Given the description of an element on the screen output the (x, y) to click on. 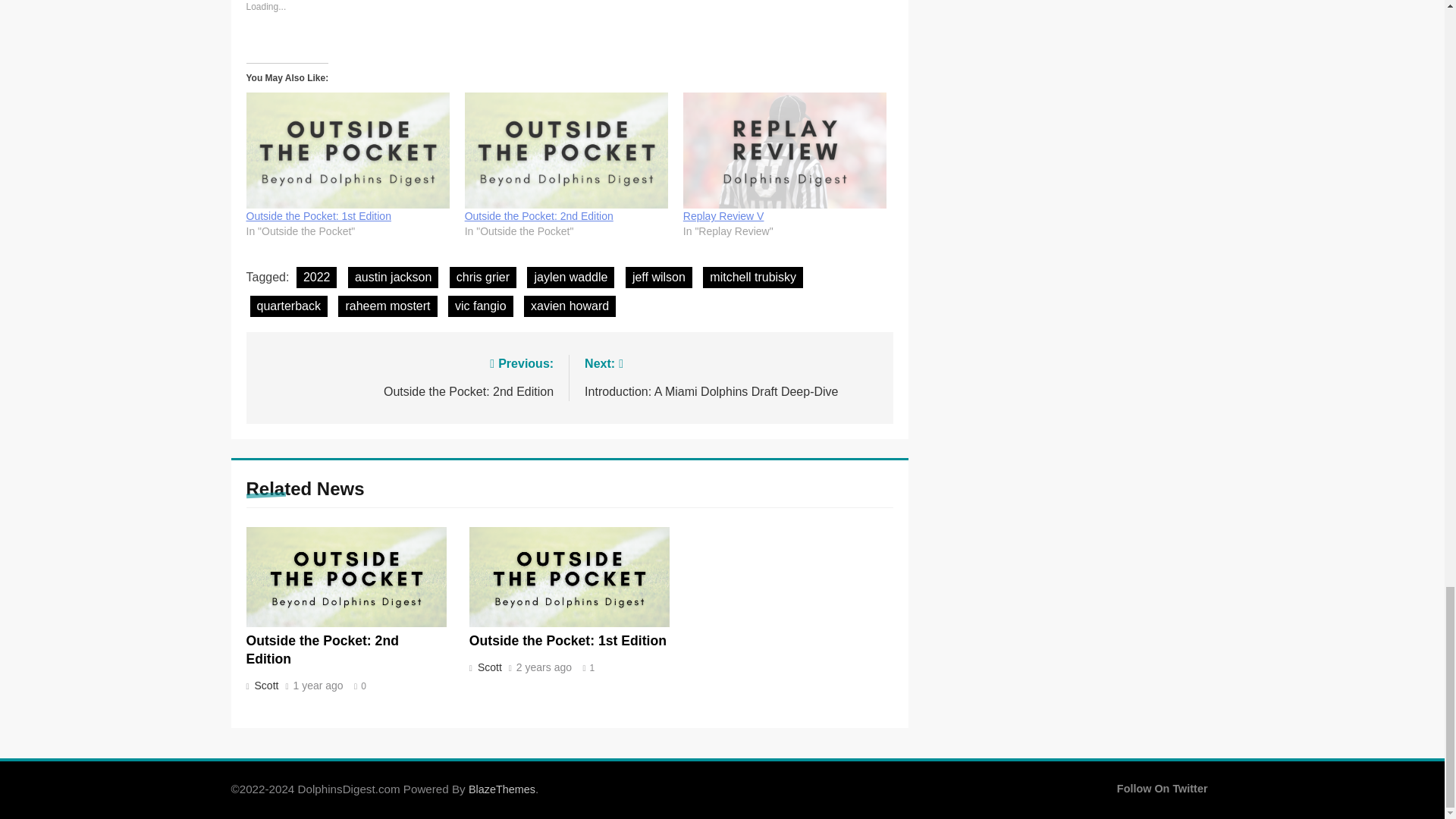
Outside the Pocket: 1st Edition (347, 150)
Outside the Pocket: 1st Edition (318, 215)
